Given the description of an element on the screen output the (x, y) to click on. 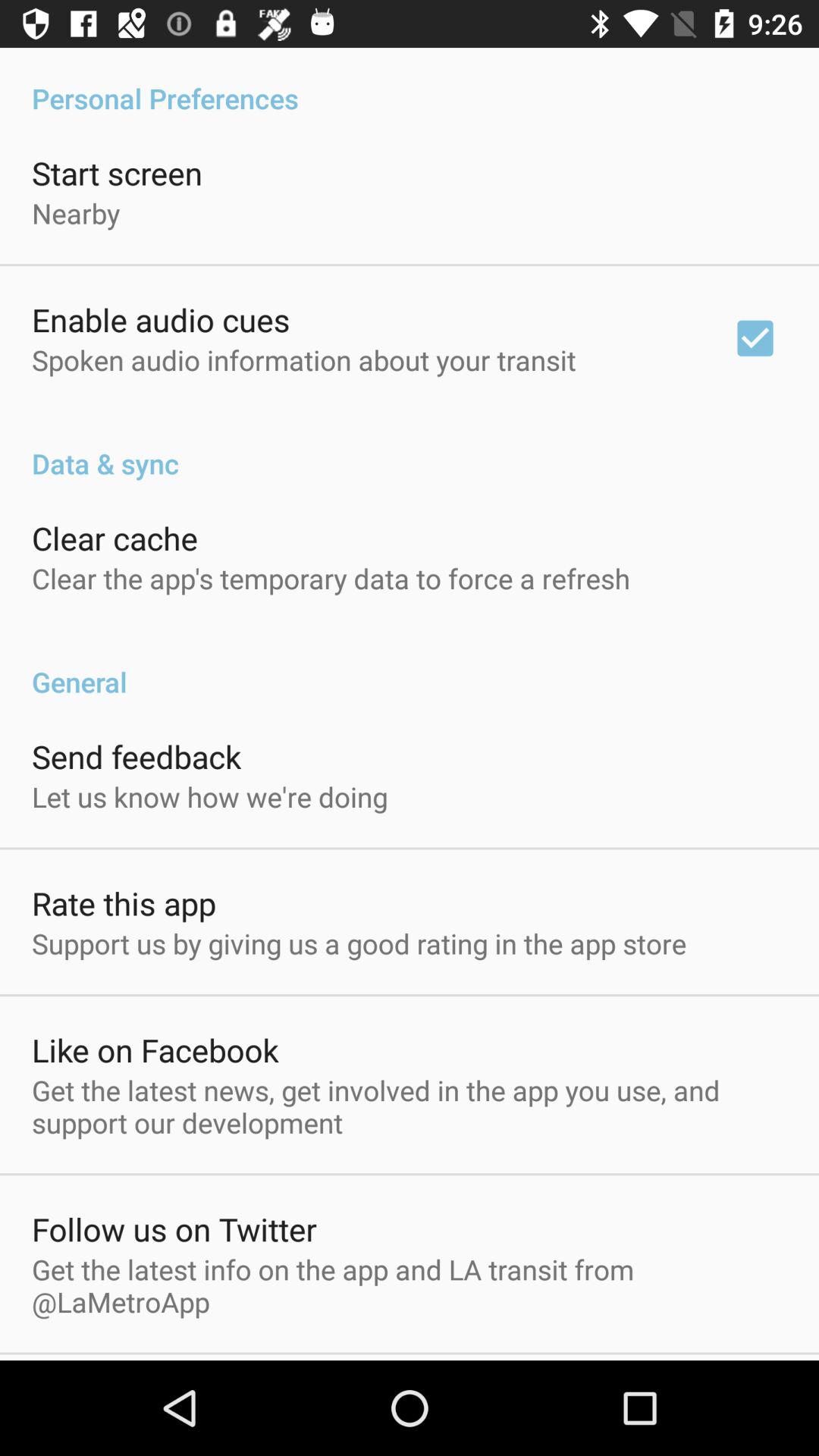
scroll to the spoken audio information item (303, 359)
